Given the description of an element on the screen output the (x, y) to click on. 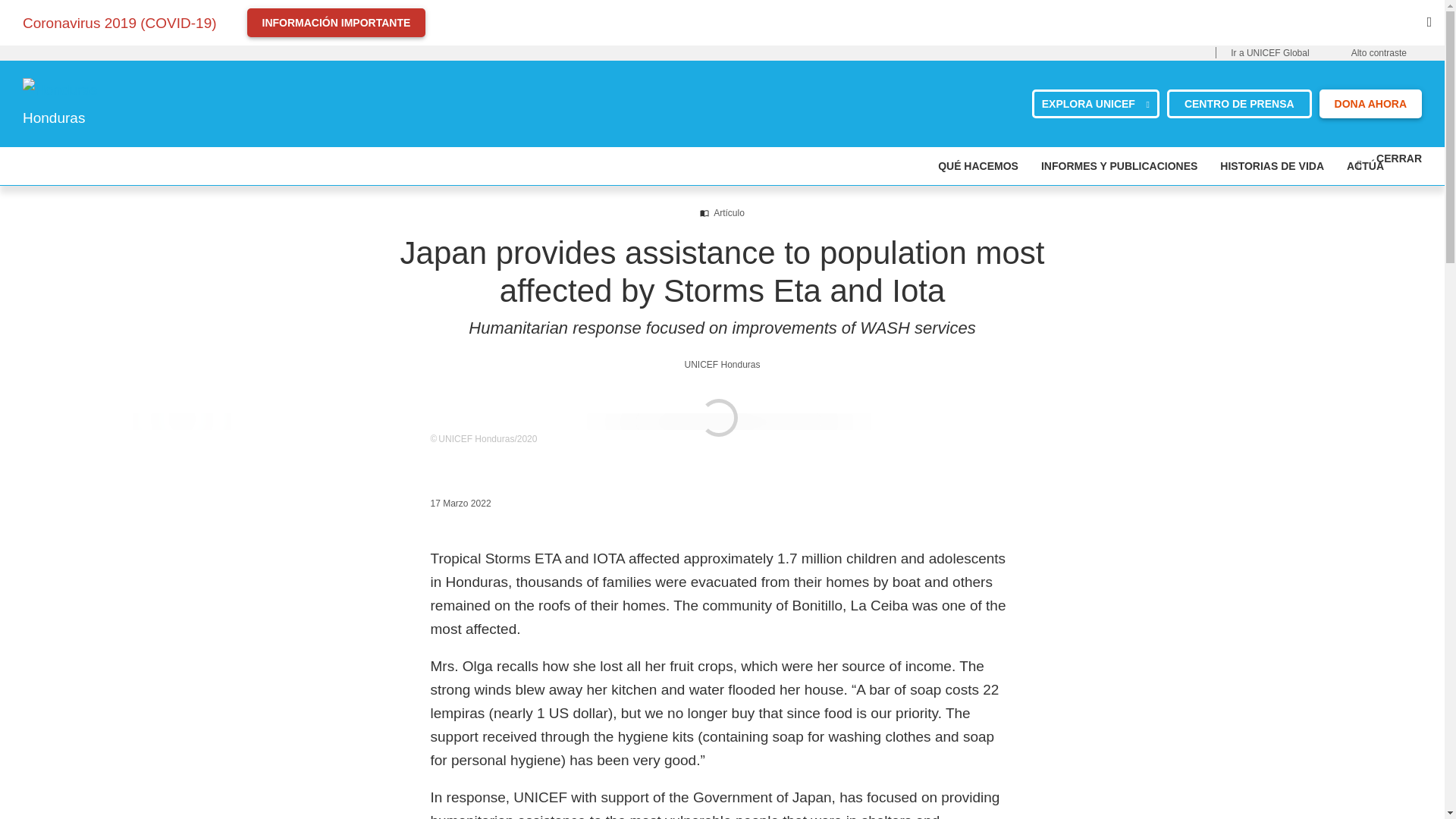
EXPLORA UNICEF (1095, 103)
DONA AHORA (1370, 103)
Ir a UNICEF Global (1269, 52)
Alto contraste (1378, 52)
CENTRO DE PRENSA (1239, 103)
INFORMES Y PUBLICACIONES (1118, 166)
HISTORIAS DE VIDA (1271, 166)
Honduras (60, 89)
EXPLORA UNICEF (1095, 103)
